Given the description of an element on the screen output the (x, y) to click on. 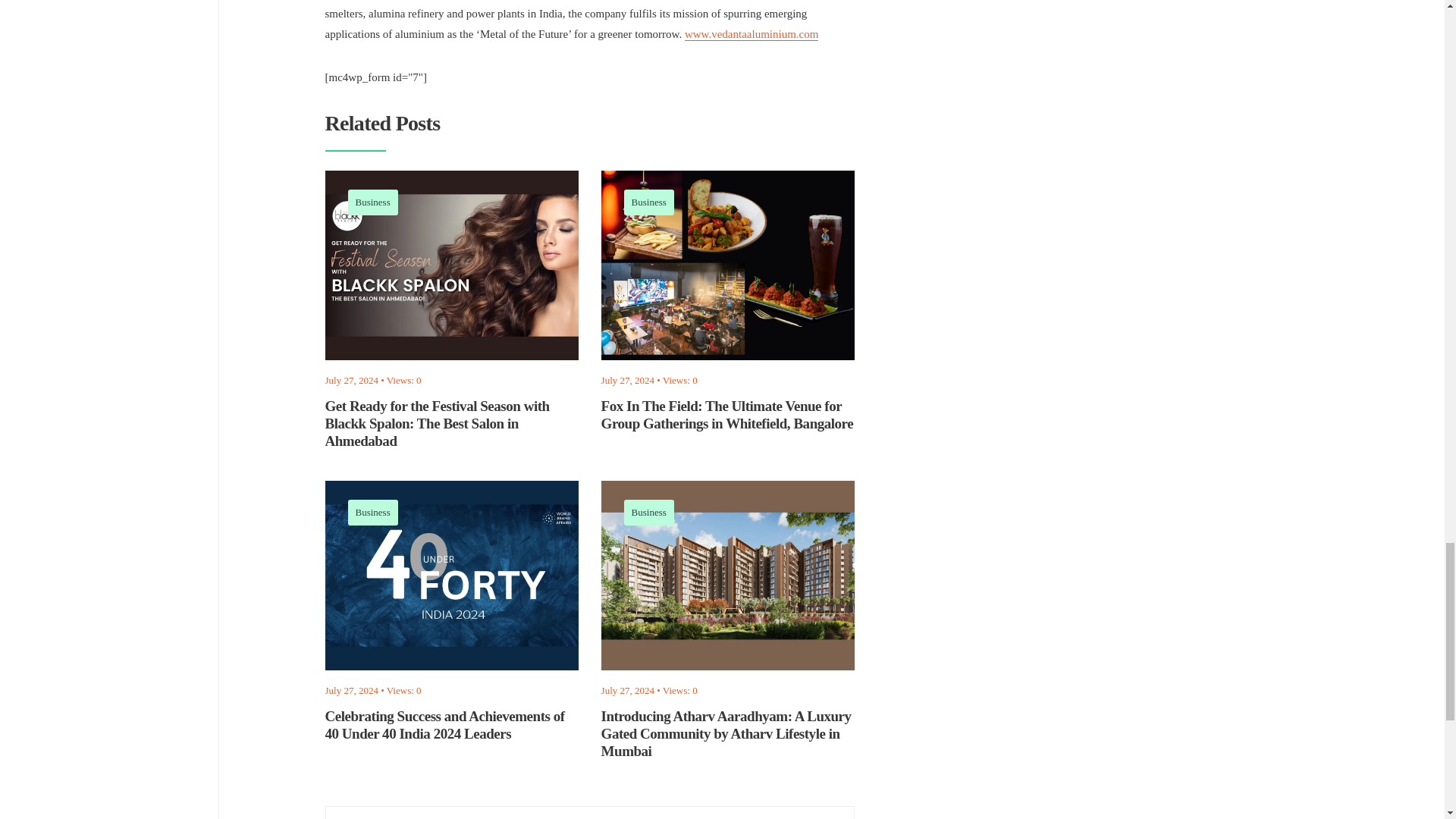
Business (372, 202)
Business (648, 202)
www.vedantaaluminium.com (751, 33)
Business (372, 511)
Business (648, 511)
